Given the description of an element on the screen output the (x, y) to click on. 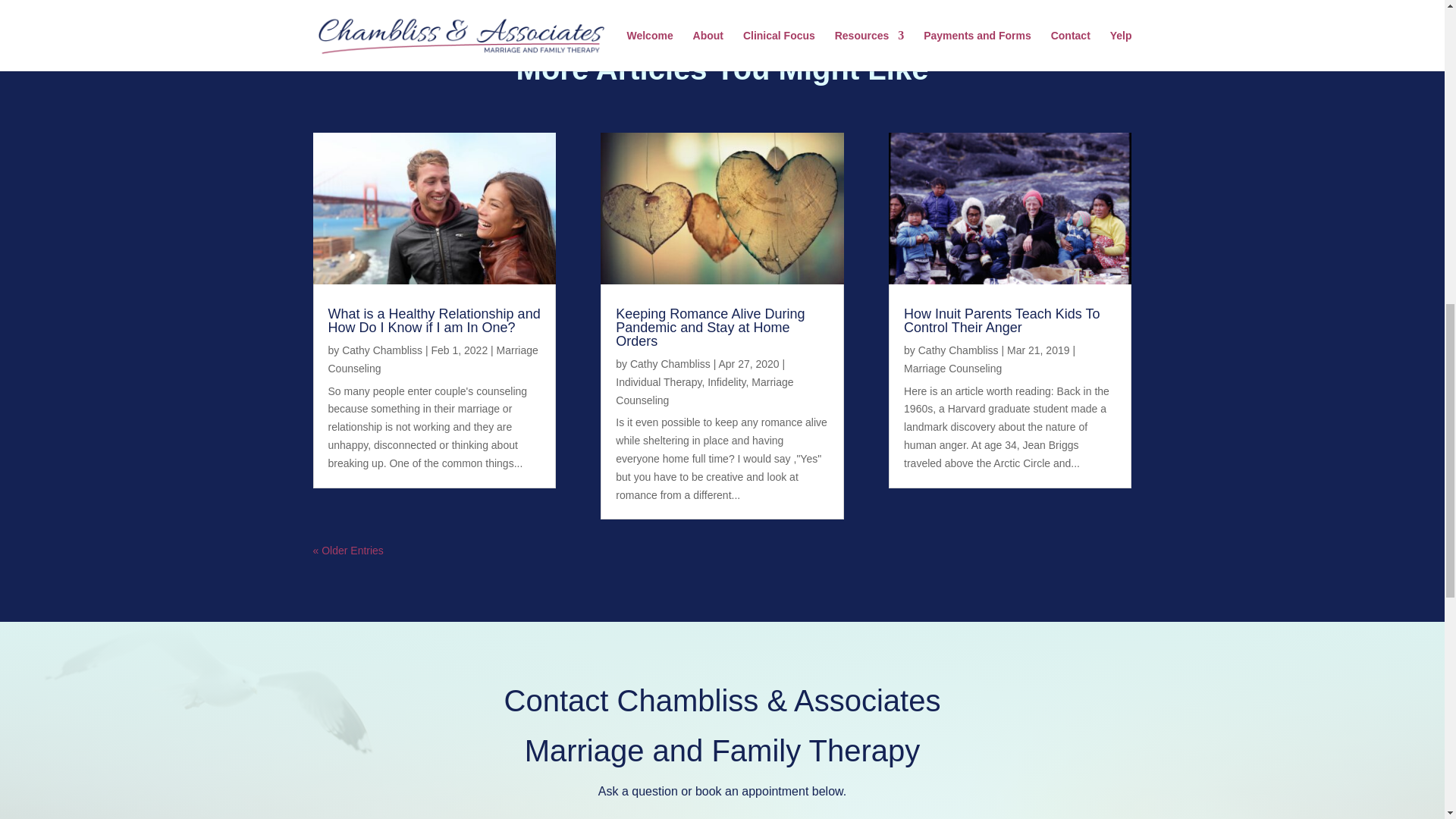
Posts by Cathy Chambliss (382, 349)
Marriage Counseling (432, 358)
Individual Therapy (658, 381)
Cathy Chambliss (382, 349)
Cathy Chambliss (670, 363)
Marriage Counseling (704, 390)
Infidelity (726, 381)
Posts by Cathy Chambliss (670, 363)
